Given the description of an element on the screen output the (x, y) to click on. 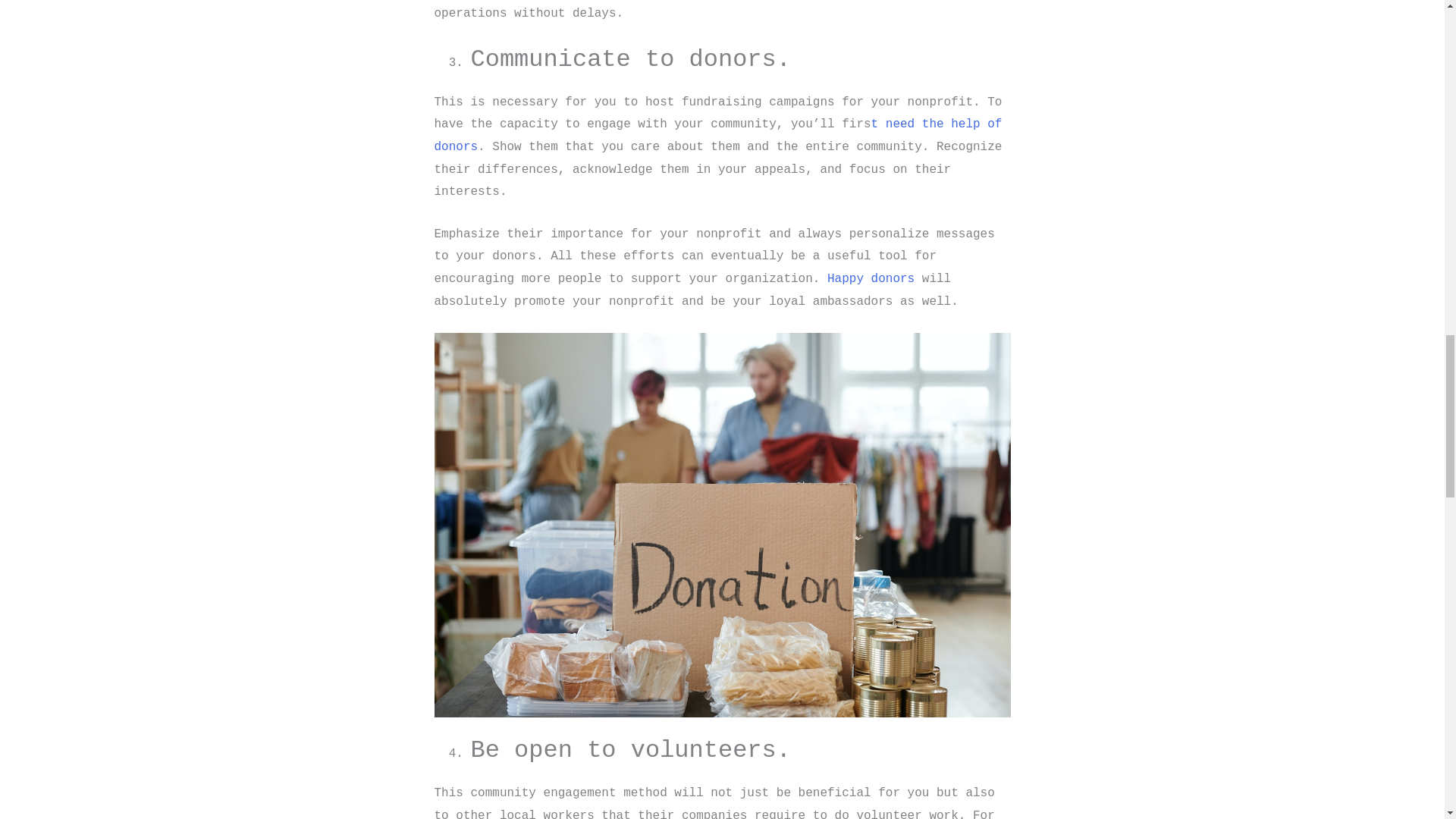
t need the help of donors (717, 135)
Happy donors (870, 278)
